Given the description of an element on the screen output the (x, y) to click on. 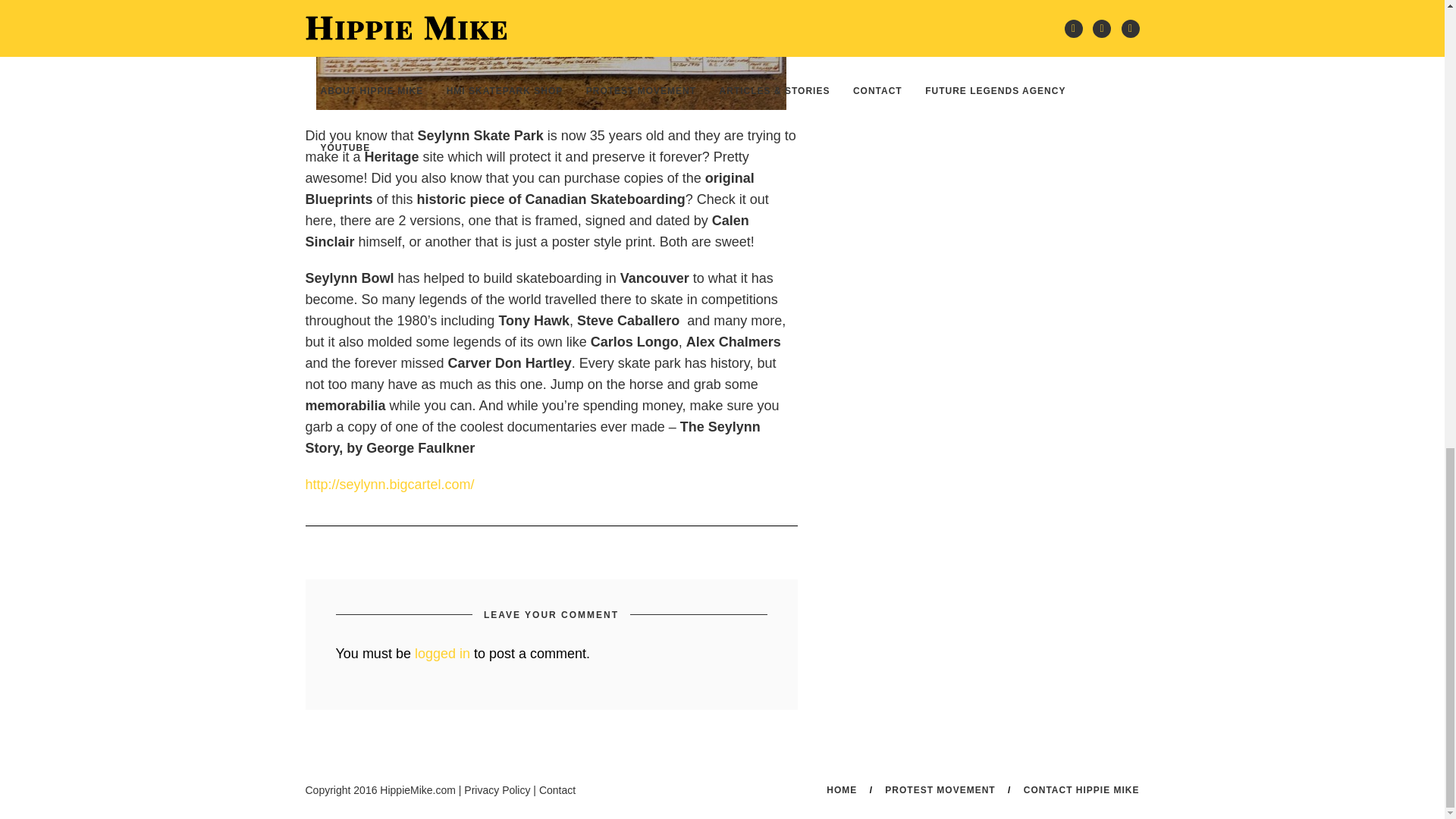
Privacy Policy (496, 789)
logged in (442, 653)
CONTACT HIPPIE MIKE (1081, 789)
Contact (556, 789)
HOME (842, 789)
PROTEST MOVEMENT (939, 789)
